Given the description of an element on the screen output the (x, y) to click on. 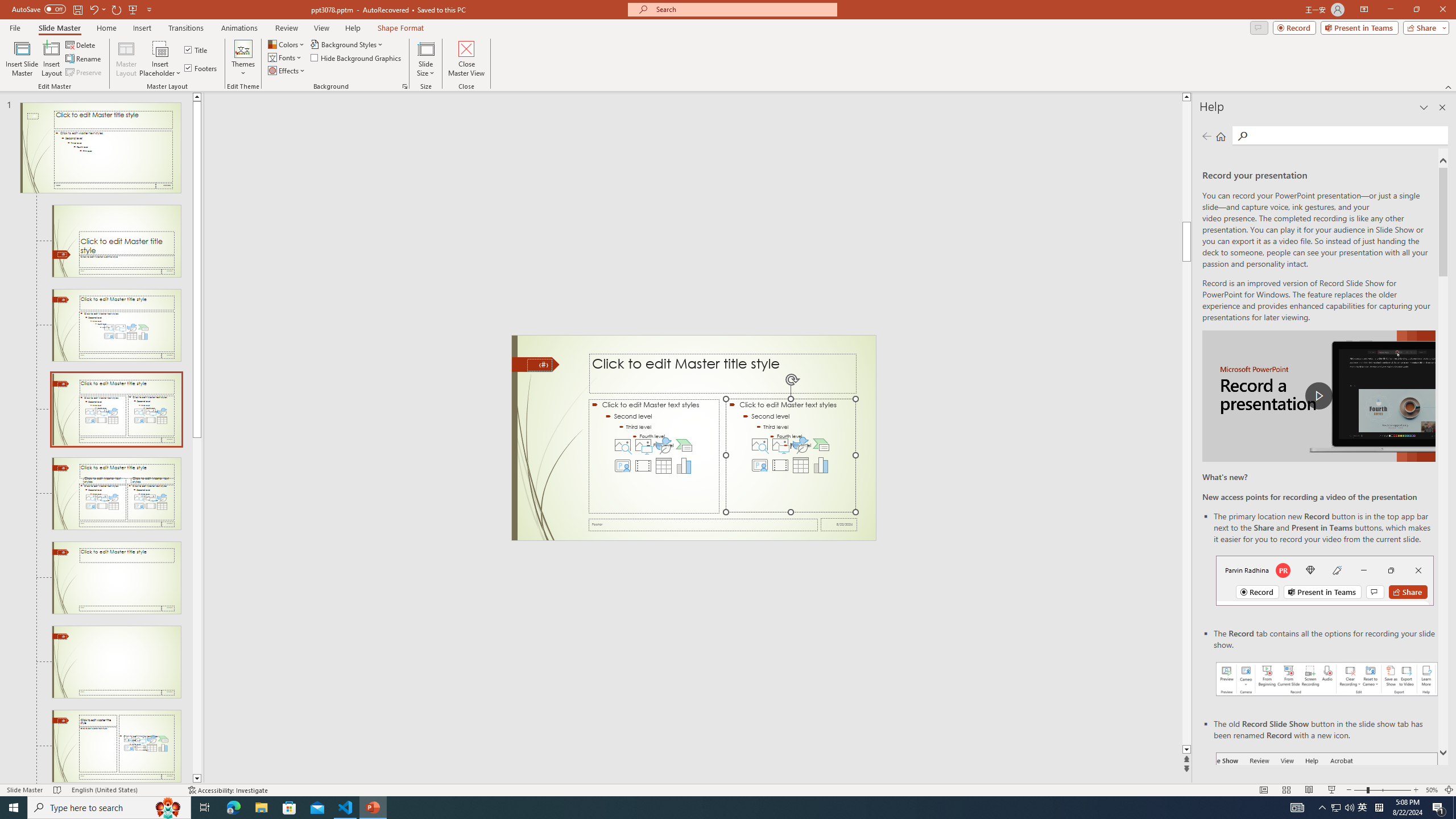
Insert Slide Master (21, 58)
Close Master View (466, 58)
Fonts (285, 56)
Insert Table (800, 465)
Slide Title and Content Layout: used by no slides (116, 325)
play Record a Presentation (1318, 395)
